Given the description of an element on the screen output the (x, y) to click on. 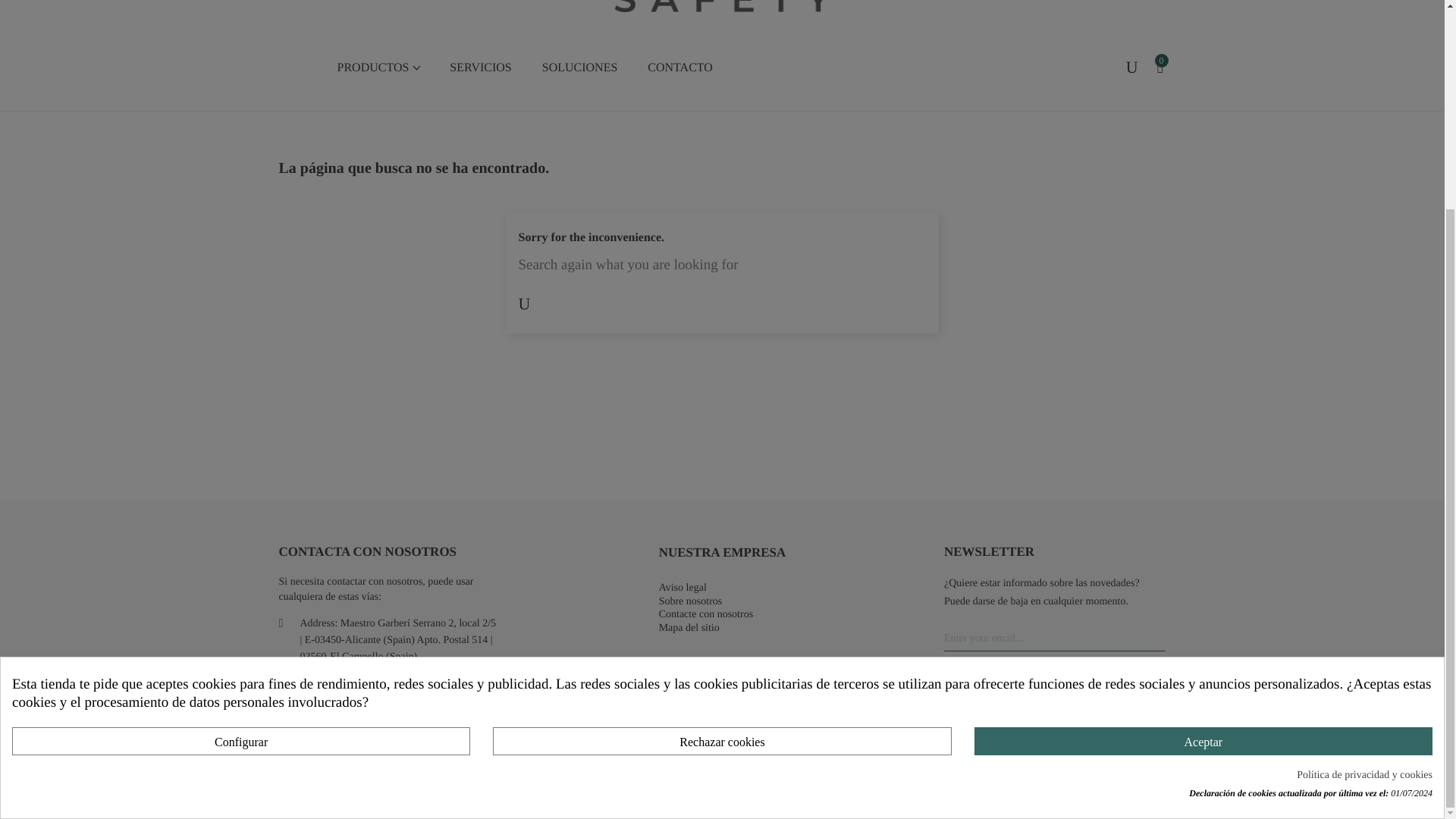
SERVICIOS (479, 67)
CONTACTO (679, 67)
PRODUCTOS (377, 67)
SOLUCIONES (580, 67)
